Given the description of an element on the screen output the (x, y) to click on. 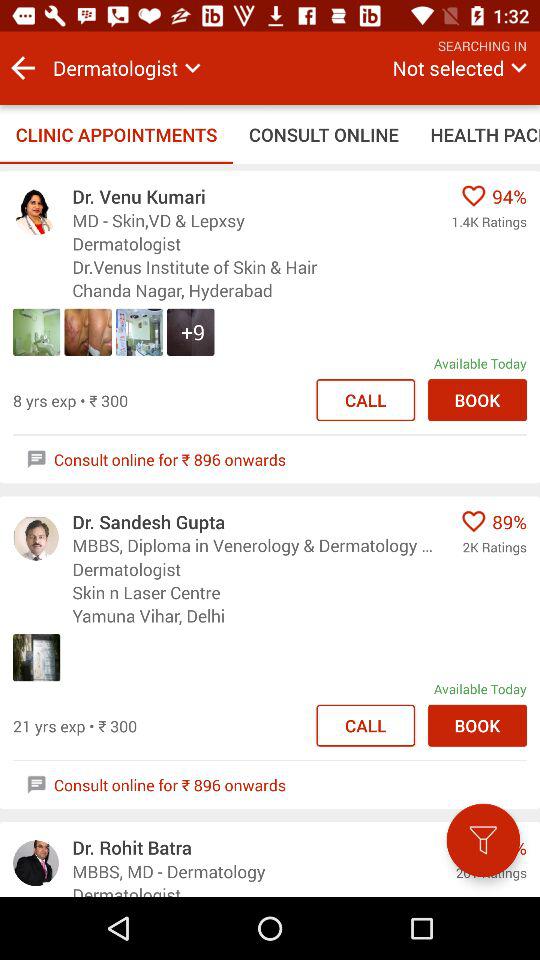
begin filtering (483, 840)
